Given the description of an element on the screen output the (x, y) to click on. 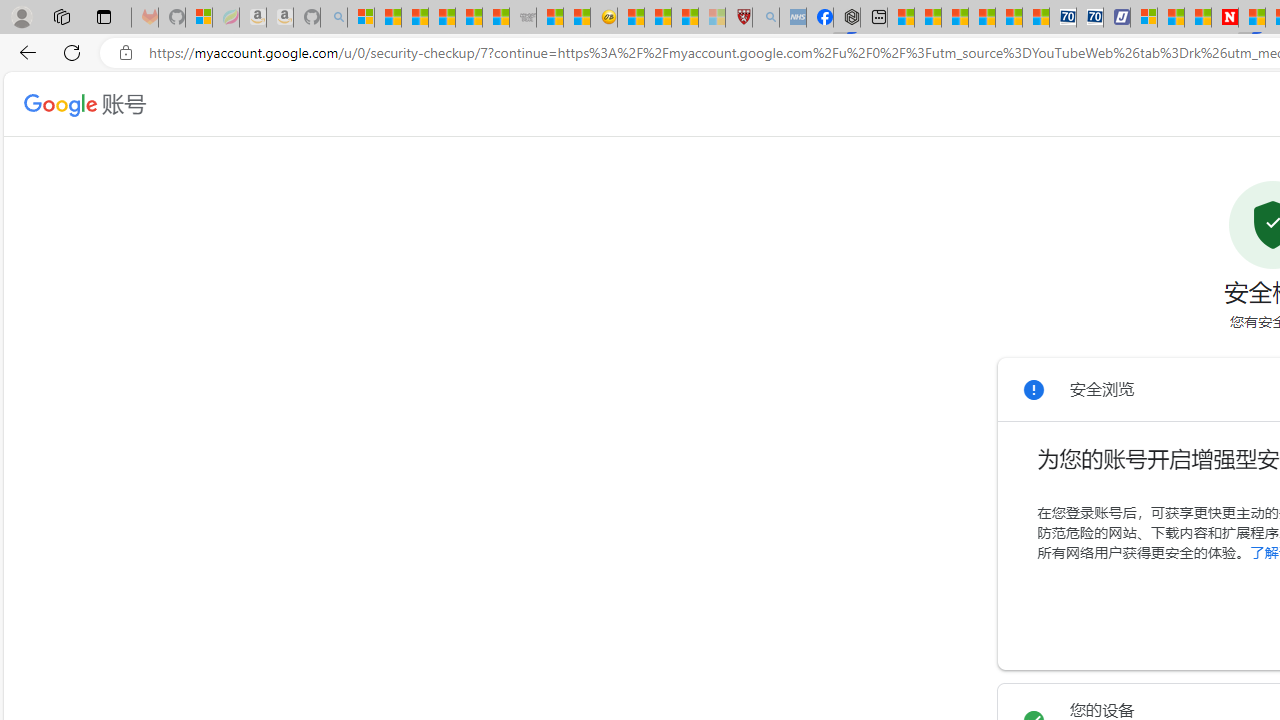
The Weather Channel - MSN (414, 17)
Robert H. Shmerling, MD - Harvard Health (738, 17)
New Report Confirms 2023 Was Record Hot | Watch (468, 17)
Cheap Car Rentals - Save70.com (1062, 17)
